Given the description of an element on the screen output the (x, y) to click on. 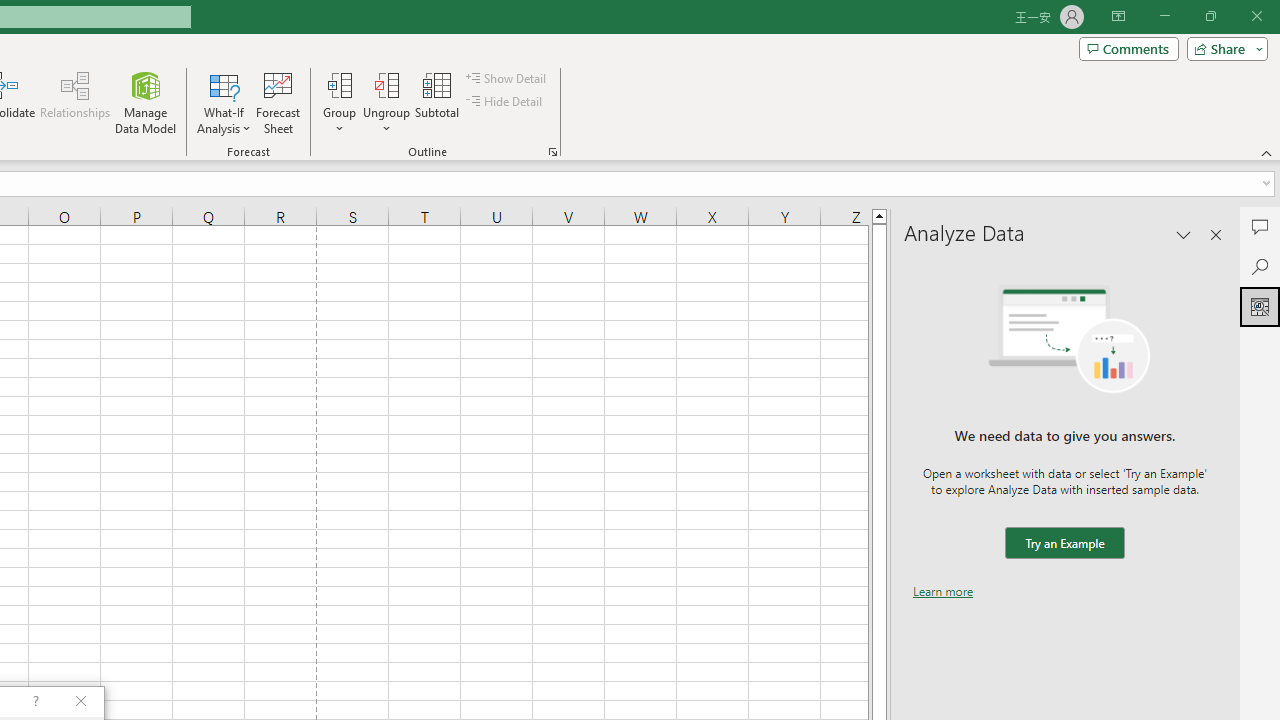
Group and Outline Settings (552, 151)
Line up (879, 215)
Comments (1260, 226)
Learn more (943, 591)
Restore Down (1210, 16)
We need data to give you answers. Try an Example (1064, 543)
Analyze Data (1260, 306)
Show Detail (507, 78)
Ungroup... (386, 102)
Forecast Sheet (278, 102)
Close pane (1215, 234)
Group... (339, 102)
Subtotal (437, 102)
